Given the description of an element on the screen output the (x, y) to click on. 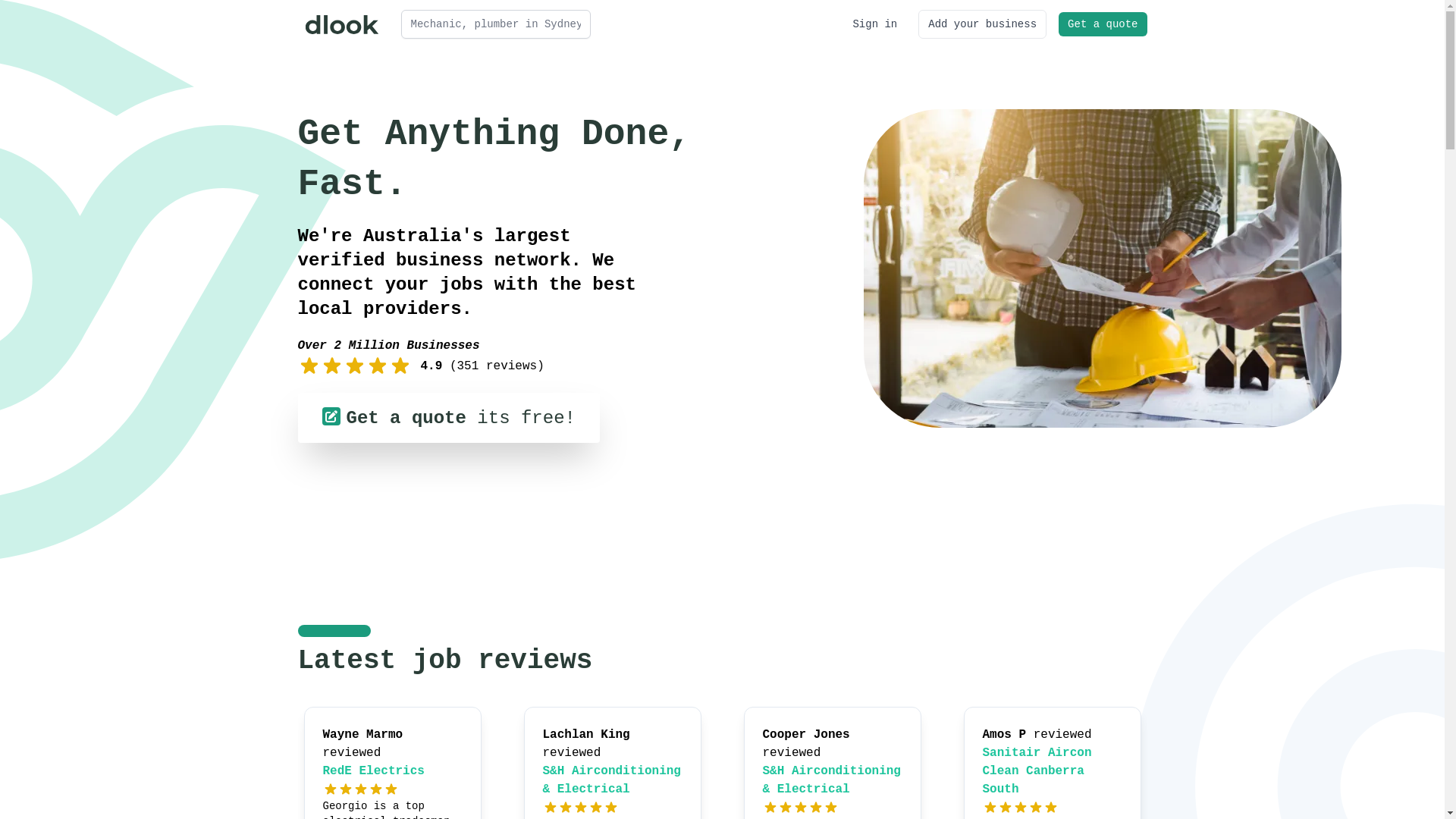
Sanitair Aircon Clean Canberra South Element type: text (1037, 771)
RedE Electrics Element type: text (373, 771)
Sign in Element type: text (874, 23)
Get a quote Element type: text (1102, 24)
Get a quote its free! Element type: text (448, 417)
Add your business Element type: text (982, 23)
S&H Airconditioning & Electrical Element type: text (831, 780)
S&H Airconditioning & Electrical Element type: text (611, 780)
